Given the description of an element on the screen output the (x, y) to click on. 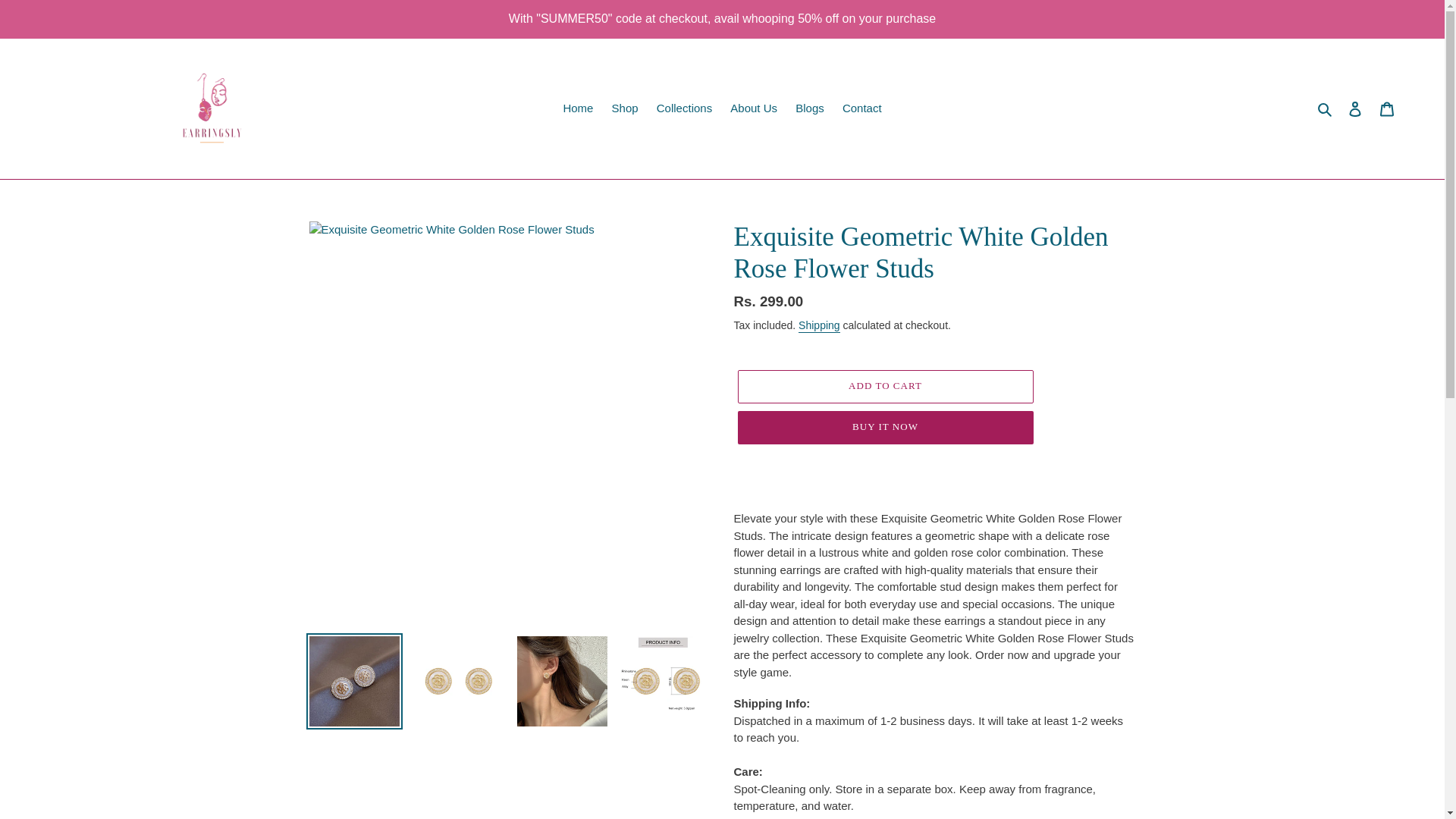
BUY IT NOW (884, 427)
About Us (753, 108)
Cart (1387, 108)
Contact (861, 108)
Blogs (809, 108)
ADD TO CART (884, 386)
Home (576, 108)
Collections (684, 108)
Shop (625, 108)
Shipping (818, 325)
Log in (1355, 108)
Search (1326, 108)
